Given the description of an element on the screen output the (x, y) to click on. 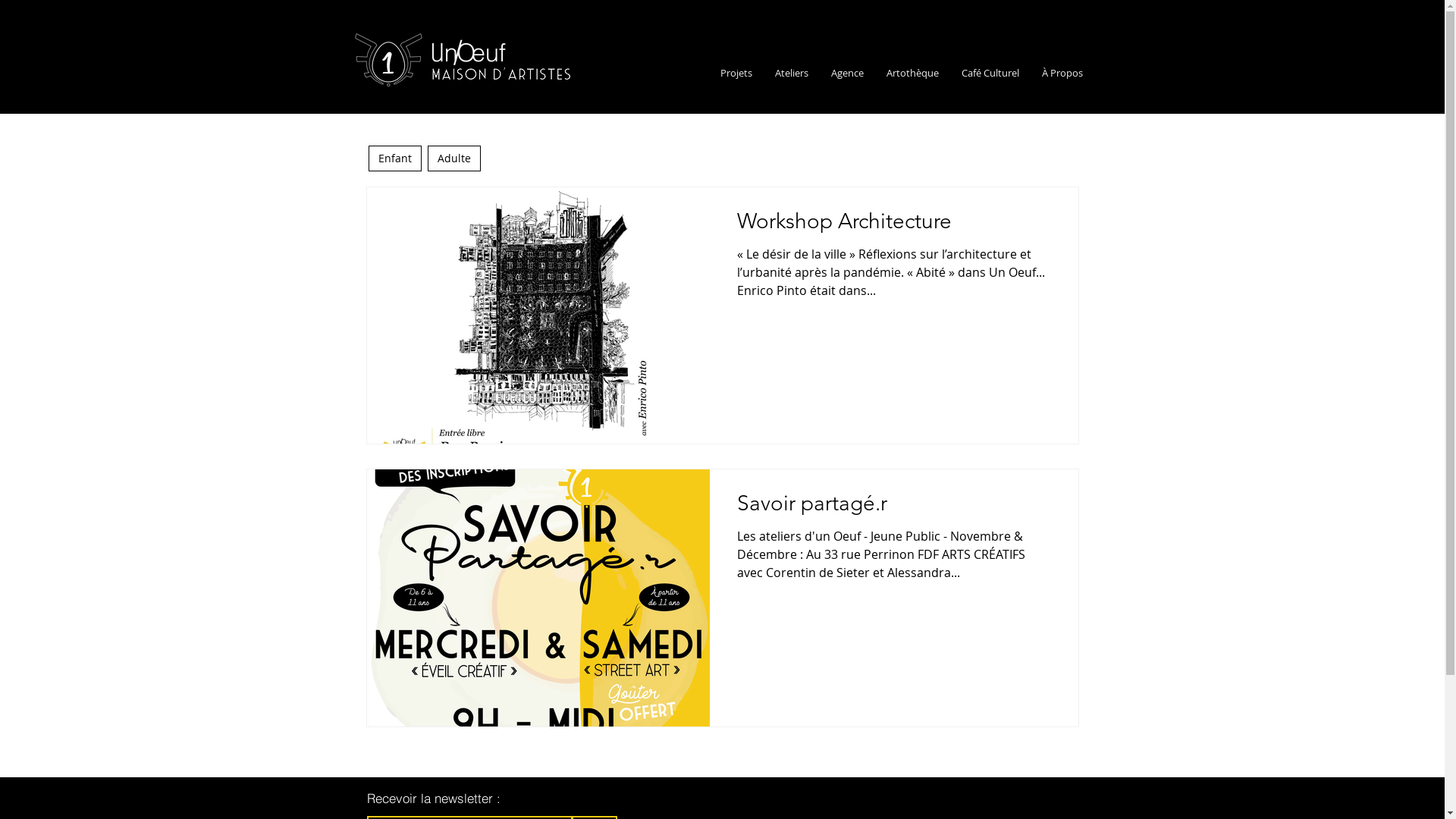
Agence Element type: text (846, 72)
Workshop Architecture Element type: text (894, 224)
Projets Element type: text (735, 72)
Ateliers Element type: text (790, 72)
Adulte Element type: text (453, 158)
Enfant Element type: text (394, 158)
